Given the description of an element on the screen output the (x, y) to click on. 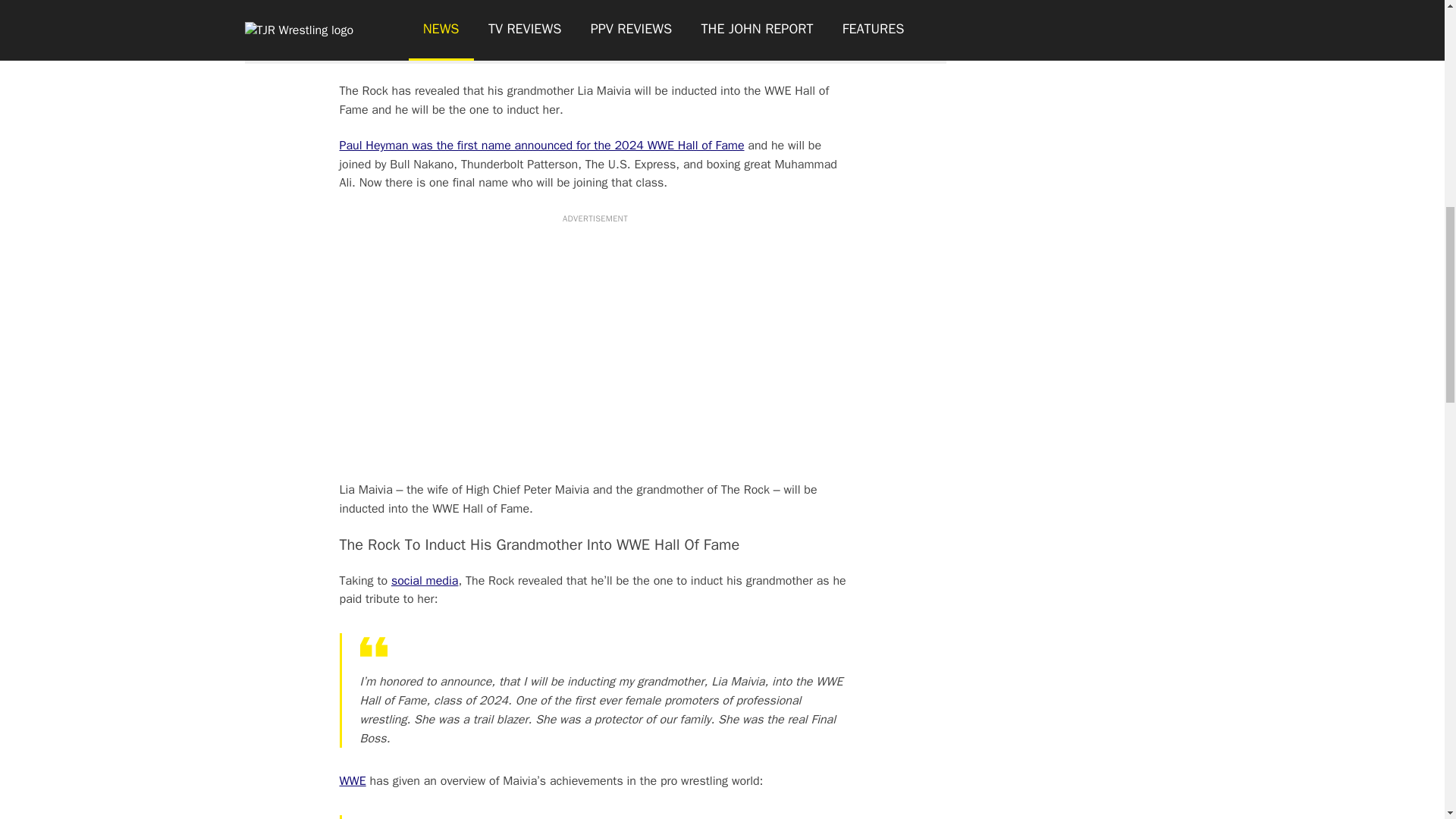
WWE (352, 780)
social media (424, 580)
